Given the description of an element on the screen output the (x, y) to click on. 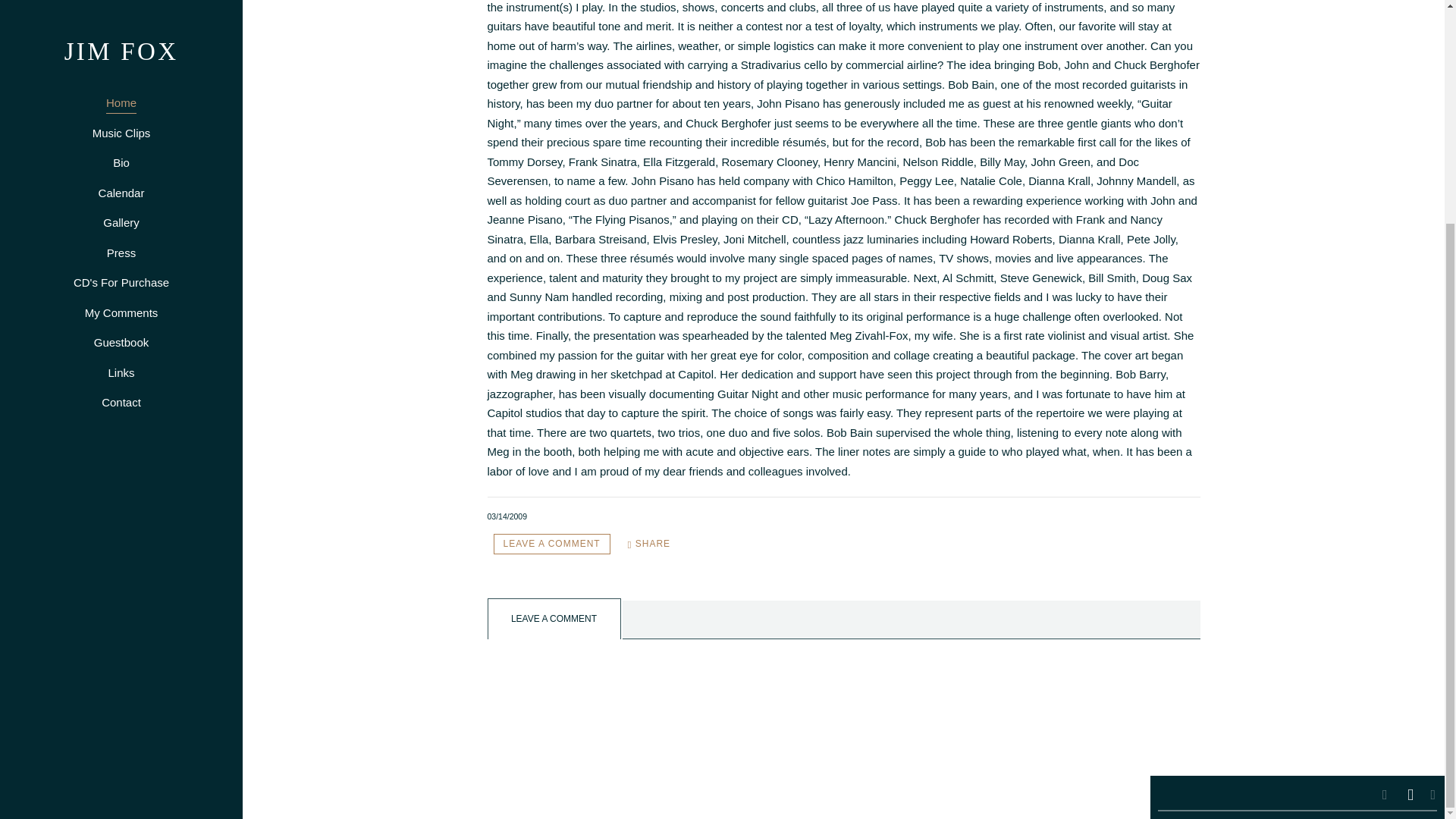
Contact (121, 105)
LEAVE A COMMENT (551, 543)
My Comments (121, 15)
March 14, 2009 17:00 (506, 515)
Leave a comment (551, 543)
Share Recording (648, 543)
Links (120, 75)
Guestbook (121, 45)
SHARE (648, 543)
